Given the description of an element on the screen output the (x, y) to click on. 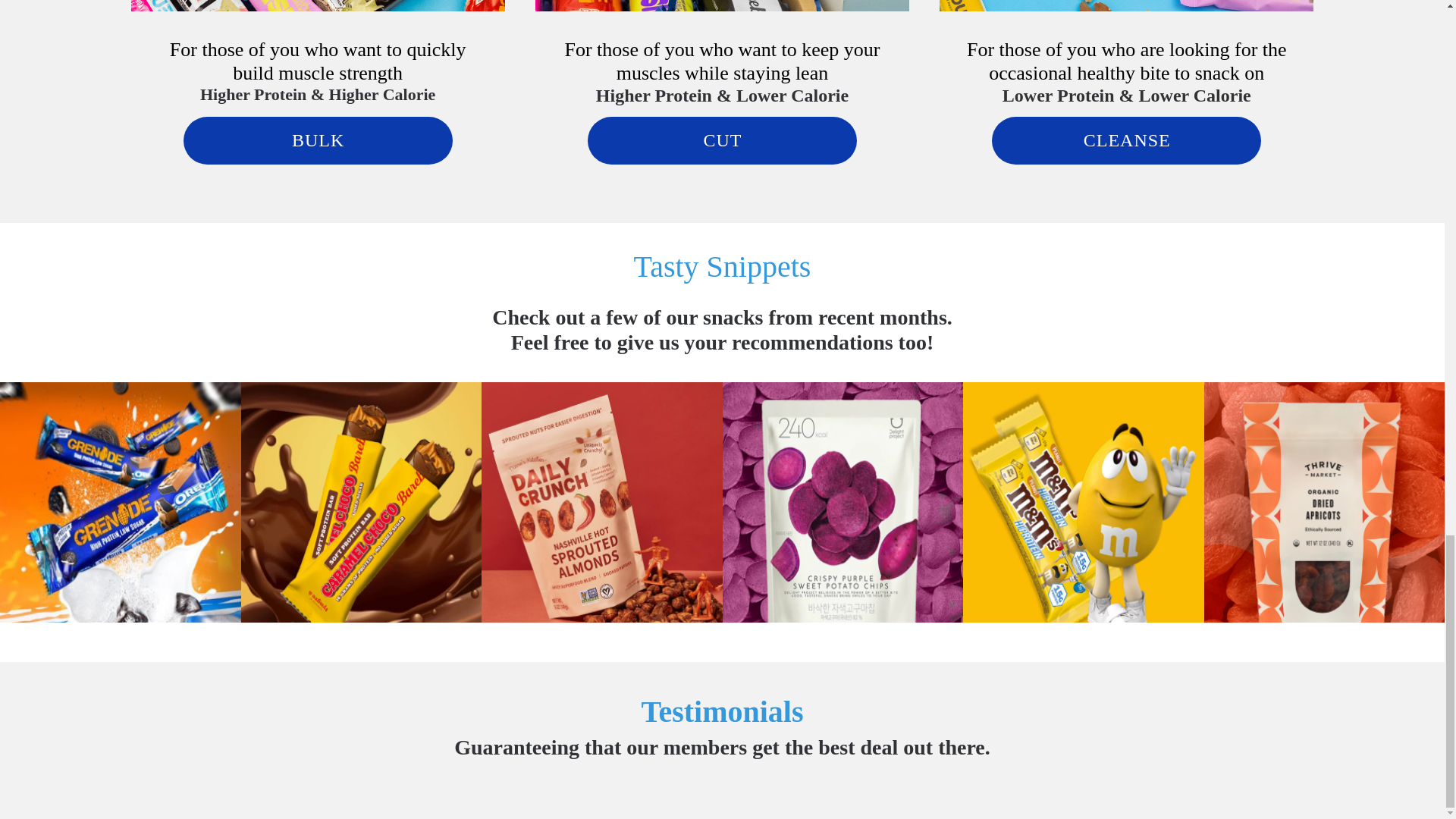
CUT (722, 140)
CLEANSE (1125, 140)
BULK (317, 140)
